Given the description of an element on the screen output the (x, y) to click on. 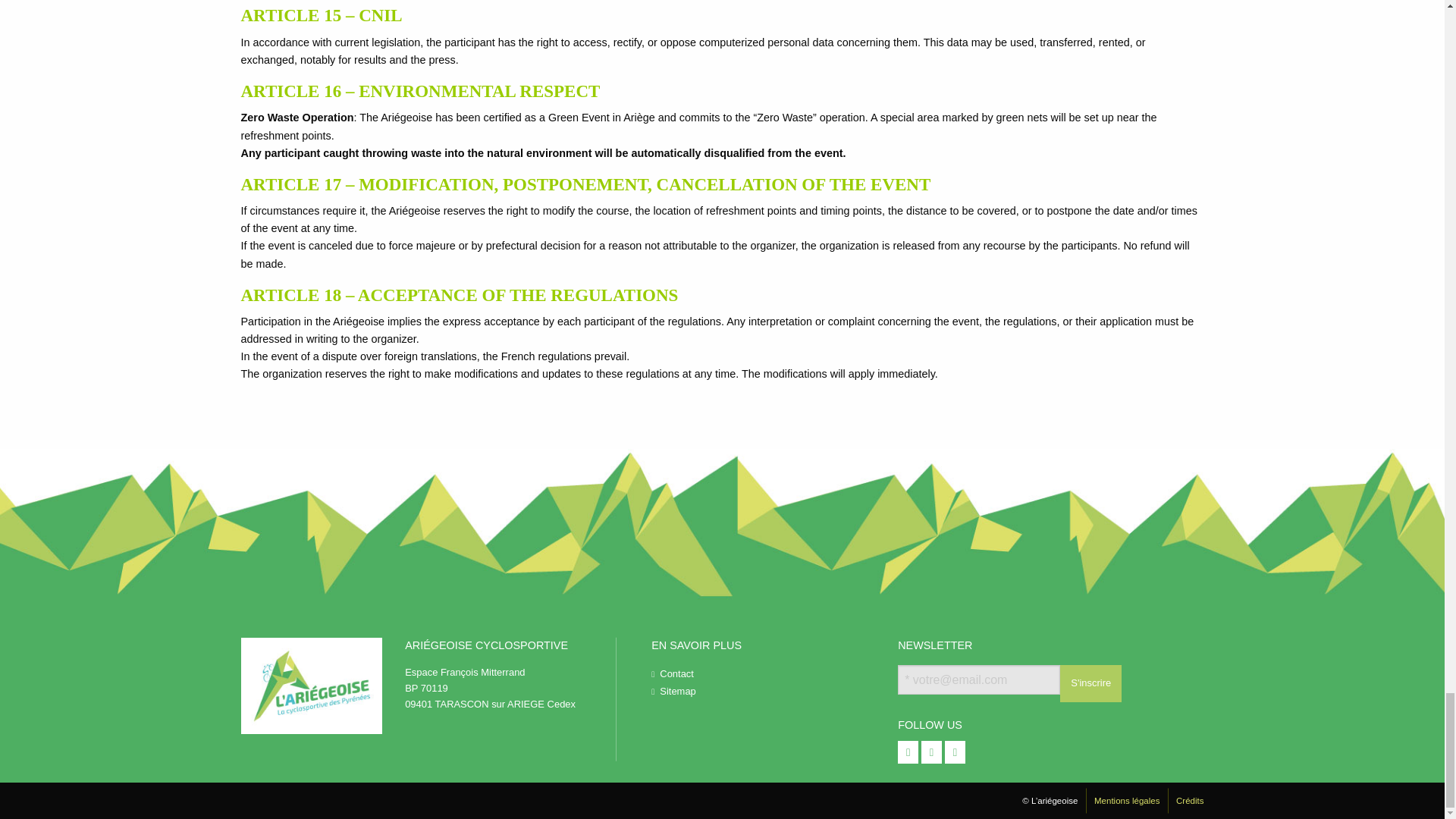
S'inscrire (1090, 683)
